Given the description of an element on the screen output the (x, y) to click on. 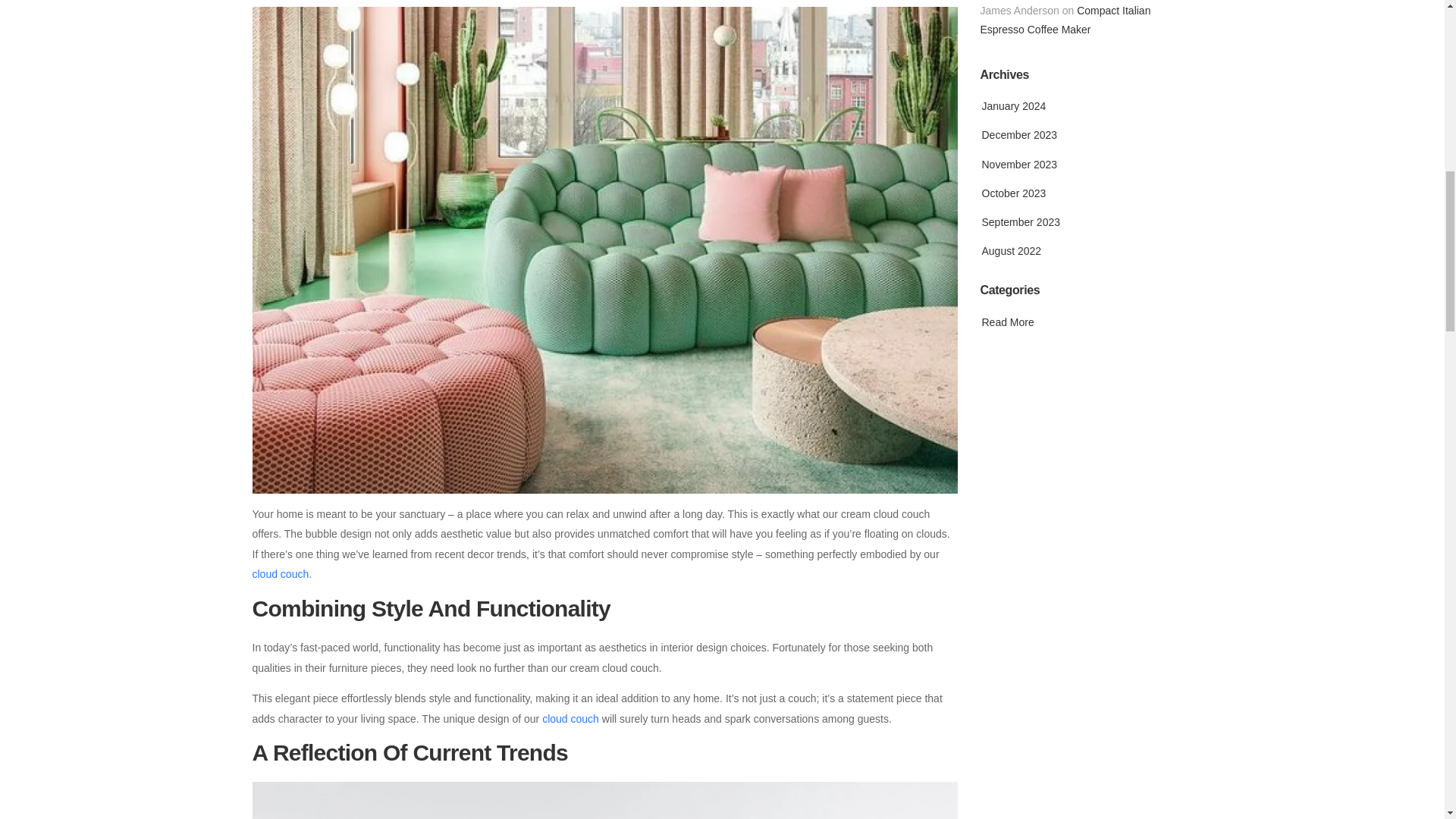
October 2023 (1012, 193)
November 2023 (1018, 164)
August 2022 (1010, 250)
January 2024 (1012, 105)
December 2023 (1018, 134)
Read More (1006, 321)
Compact Italian Espresso Coffee Maker (1064, 20)
September 2023 (1019, 222)
